Given the description of an element on the screen output the (x, y) to click on. 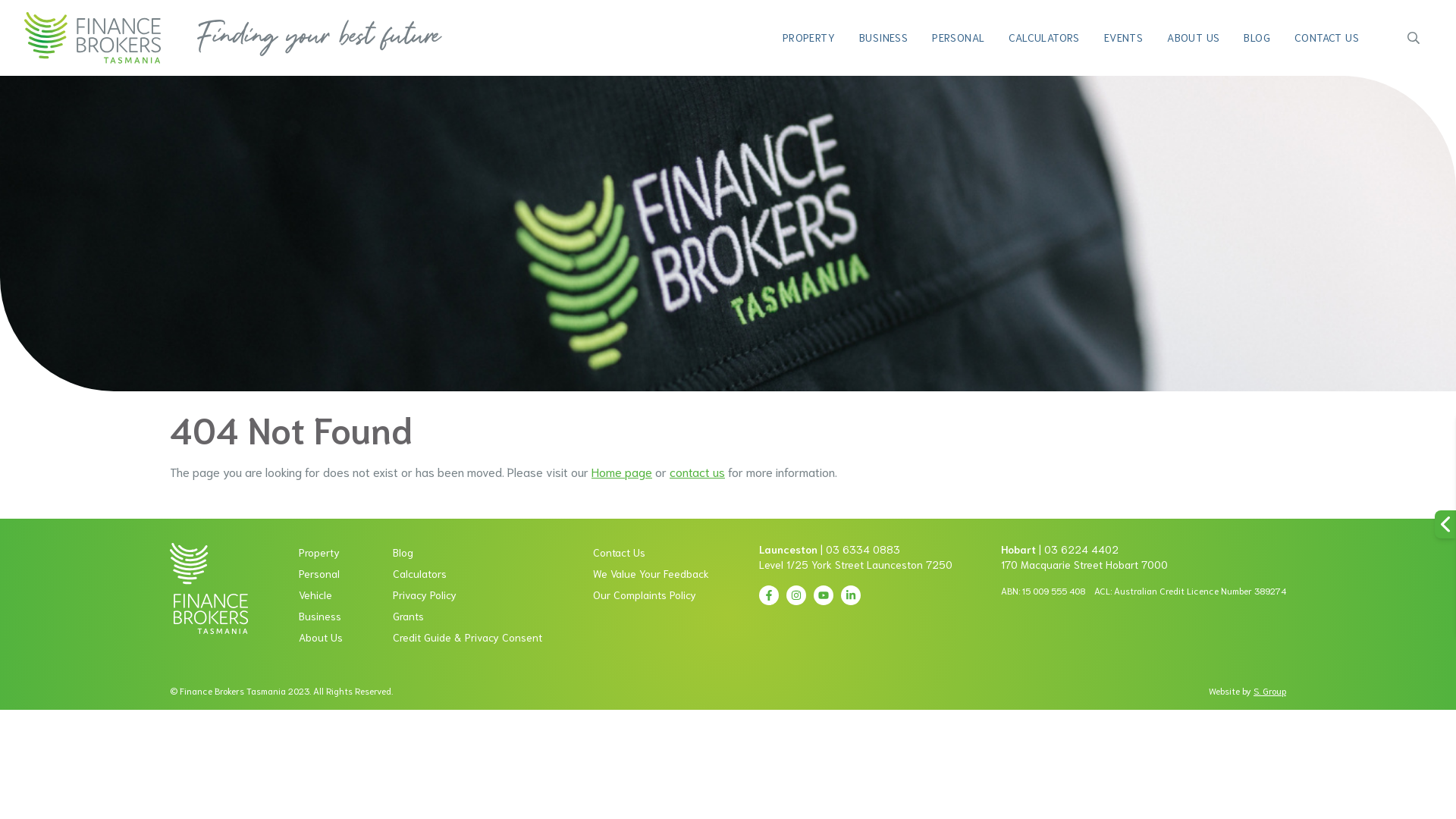
Follow us on linkedIn Element type: text (850, 595)
EVENTS Element type: text (1123, 38)
Home page Element type: text (621, 473)
BUSINESS Element type: text (883, 38)
Personal Element type: text (320, 574)
Finance Brokers Tasmania Element type: hover (208, 587)
About Us Element type: text (320, 638)
ABOUT US Element type: text (1193, 38)
CONTACT US Element type: text (1326, 38)
S. Group Element type: text (1269, 691)
Follow us on Instagram Element type: text (796, 595)
Follow us on YouTube Element type: text (823, 595)
Property Element type: text (320, 553)
contact us Element type: text (696, 473)
Calculators Element type: text (467, 574)
Vehicle Element type: text (320, 595)
Contact Us Element type: text (651, 553)
CALCULATORS Element type: text (1043, 38)
Grants Element type: text (467, 616)
Our Complaints Policy Element type: text (651, 595)
Finance Brokers Tasmania Element type: hover (92, 37)
PROPERTY Element type: text (808, 38)
Business Element type: text (320, 616)
Finding your best future Element type: hover (319, 37)
We Value Your Feedback Element type: text (651, 574)
Credit Guide & Privacy Consent Element type: text (467, 638)
PERSONAL Element type: text (957, 38)
Like us on Facebook Element type: text (768, 595)
Privacy Policy Element type: text (467, 595)
BLOG Element type: text (1256, 38)
Blog Element type: text (467, 553)
